Given the description of an element on the screen output the (x, y) to click on. 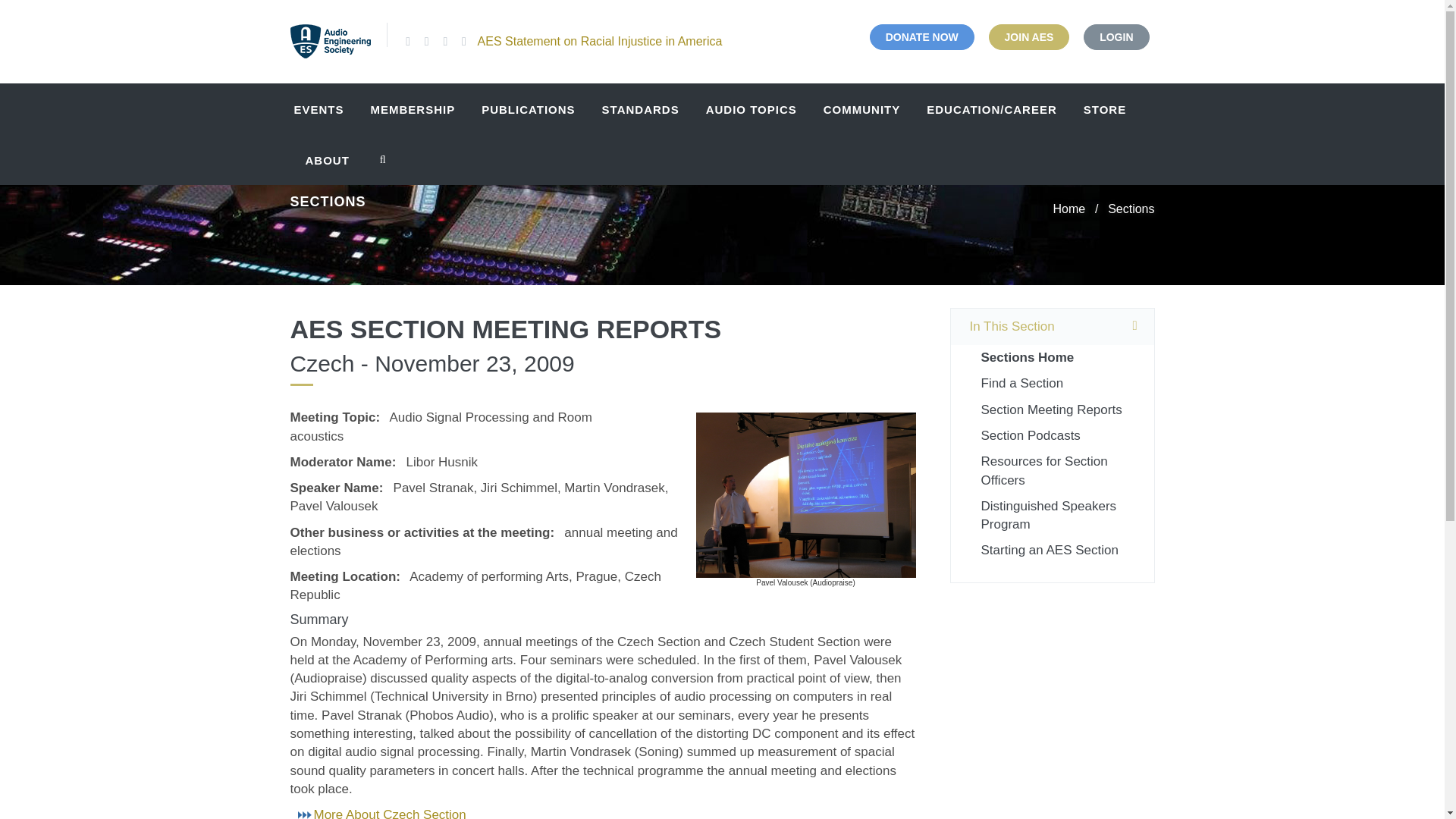
EVENTS (322, 108)
JOIN AES (1029, 36)
DONATE NOW (921, 36)
PUBLICATIONS (525, 108)
MEMBERSHIP (411, 108)
LOGIN (1115, 36)
AES Statement on Racial Injustice in America (599, 41)
